Given the description of an element on the screen output the (x, y) to click on. 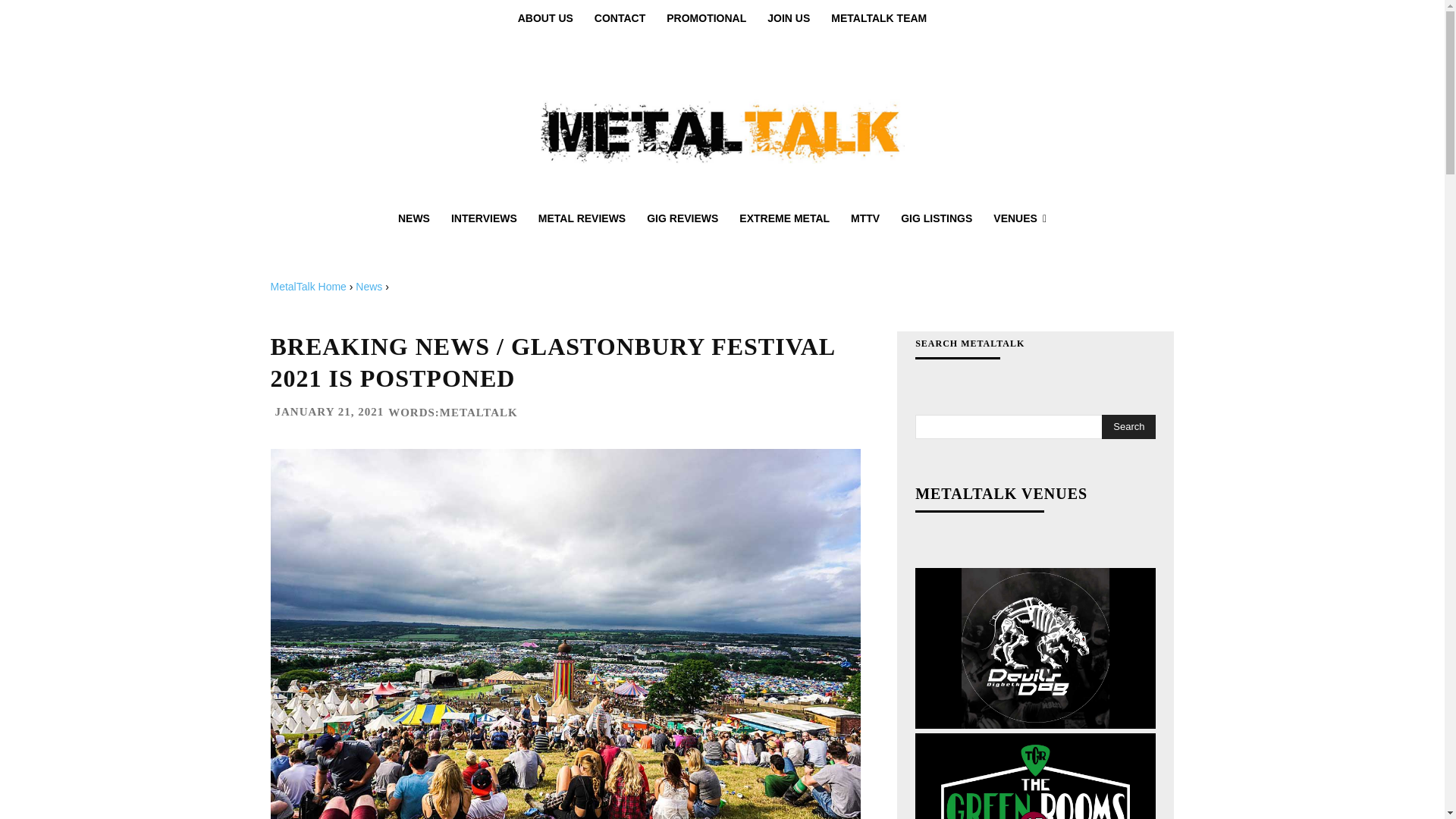
NEWS (414, 217)
INTERVIEWS (484, 217)
MetalTalk Home (307, 286)
PROMOTIONAL (706, 18)
MTTV (864, 217)
METALTALK TEAM (879, 18)
VENUES (1019, 217)
GIG LISTINGS (935, 217)
METAL REVIEWS (581, 217)
News (368, 286)
GIG REVIEWS (682, 217)
JOIN US (789, 18)
EXTREME METAL (784, 217)
CONTACT (619, 18)
ABOUT US (544, 18)
